Given the description of an element on the screen output the (x, y) to click on. 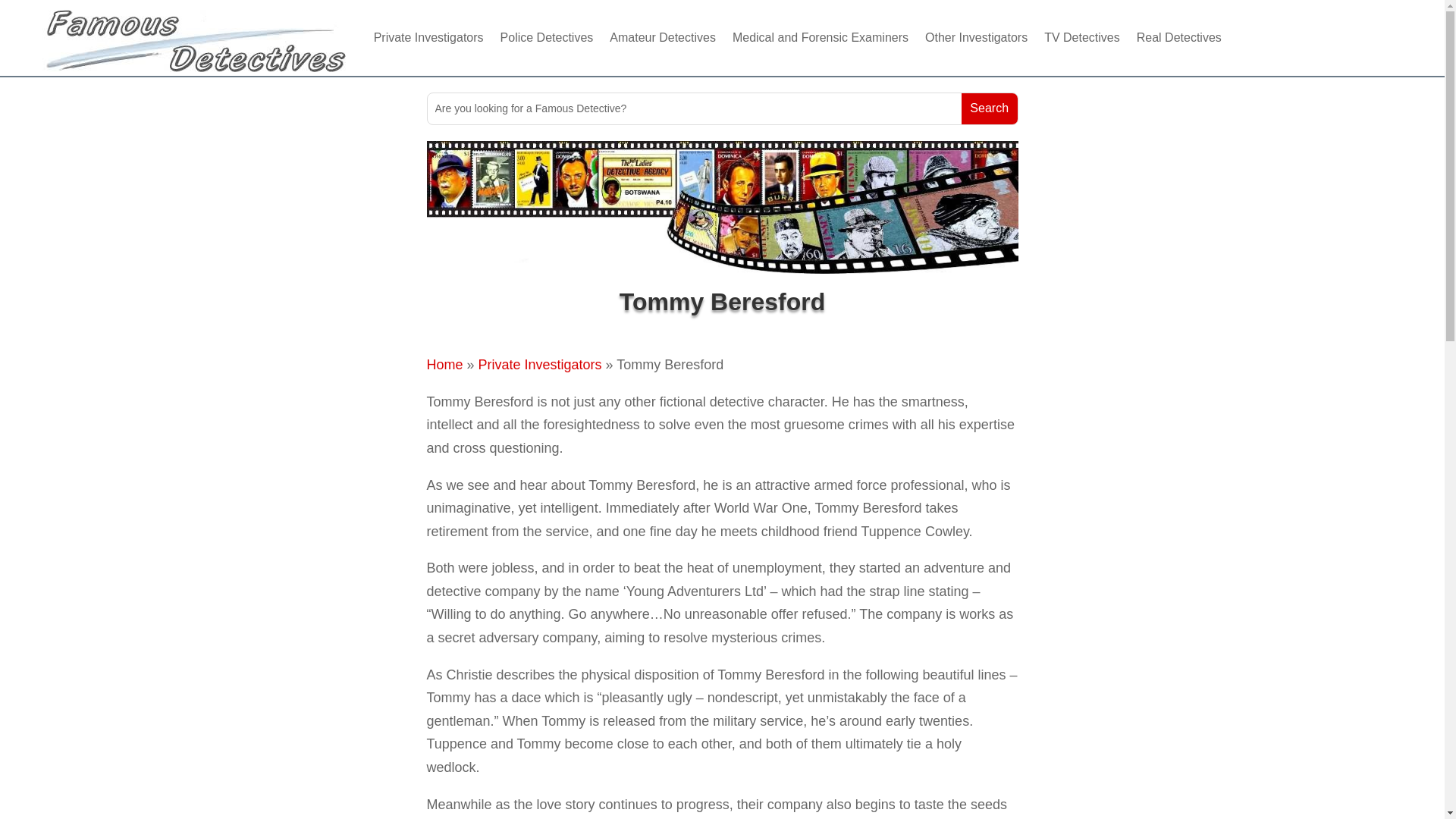
Search (988, 108)
Amateur Detectives (663, 38)
Search (988, 108)
Private Investigators (428, 38)
Home (444, 364)
Police Detectives (547, 38)
Other Investigators (975, 38)
Medical and Forensic Examiners (820, 38)
Real Detectives (1179, 38)
Search (988, 108)
Private Investigators (540, 364)
TV Detectives (1081, 38)
